Given the description of an element on the screen output the (x, y) to click on. 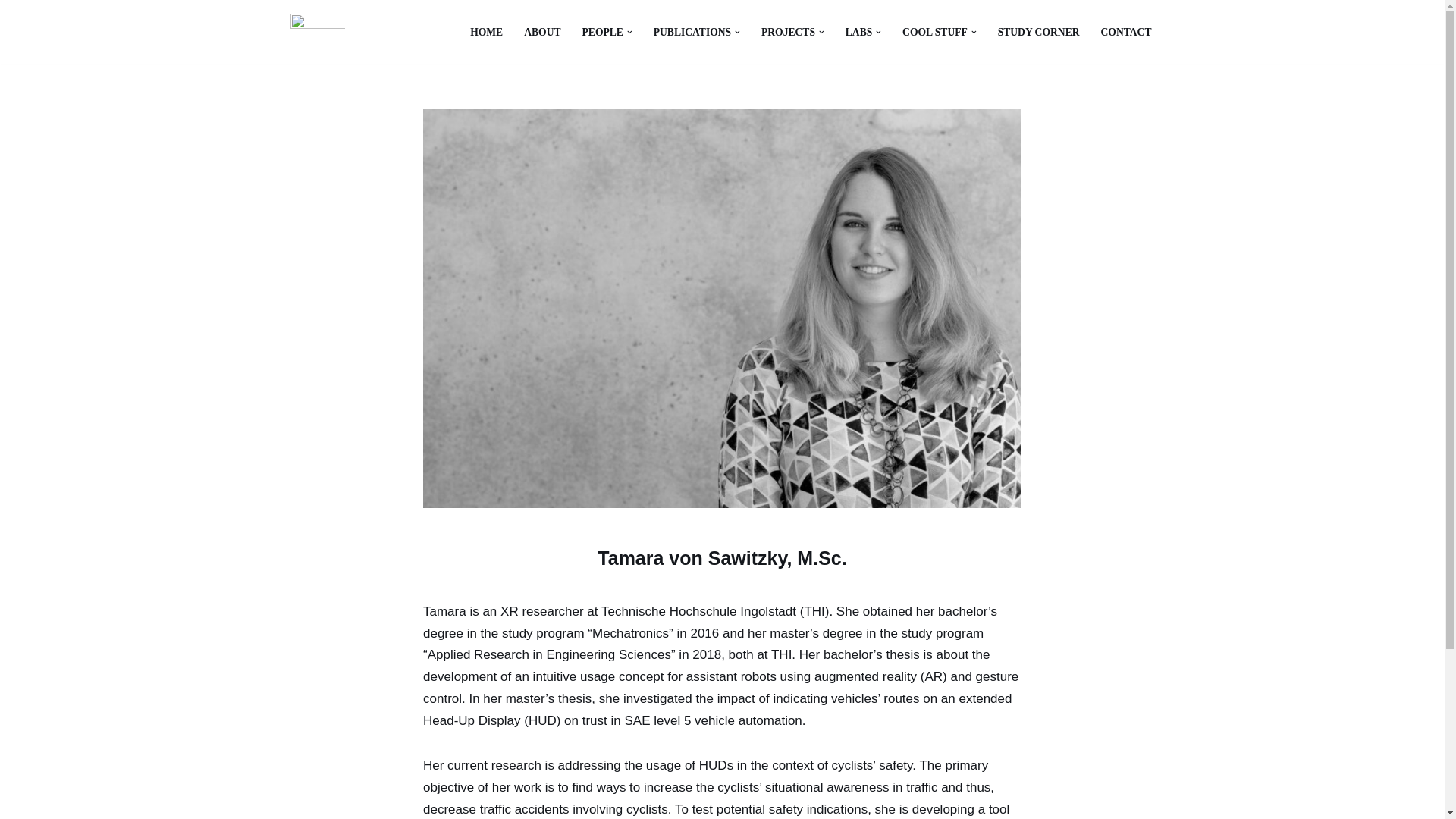
CONTACT (1125, 31)
STUDY CORNER (1038, 31)
COOL STUFF (935, 31)
HOME (486, 31)
PUBLICATIONS (691, 31)
Skip to content (11, 31)
PEOPLE (602, 31)
LABS (858, 31)
ABOUT (542, 31)
PROJECTS (788, 31)
